Given the description of an element on the screen output the (x, y) to click on. 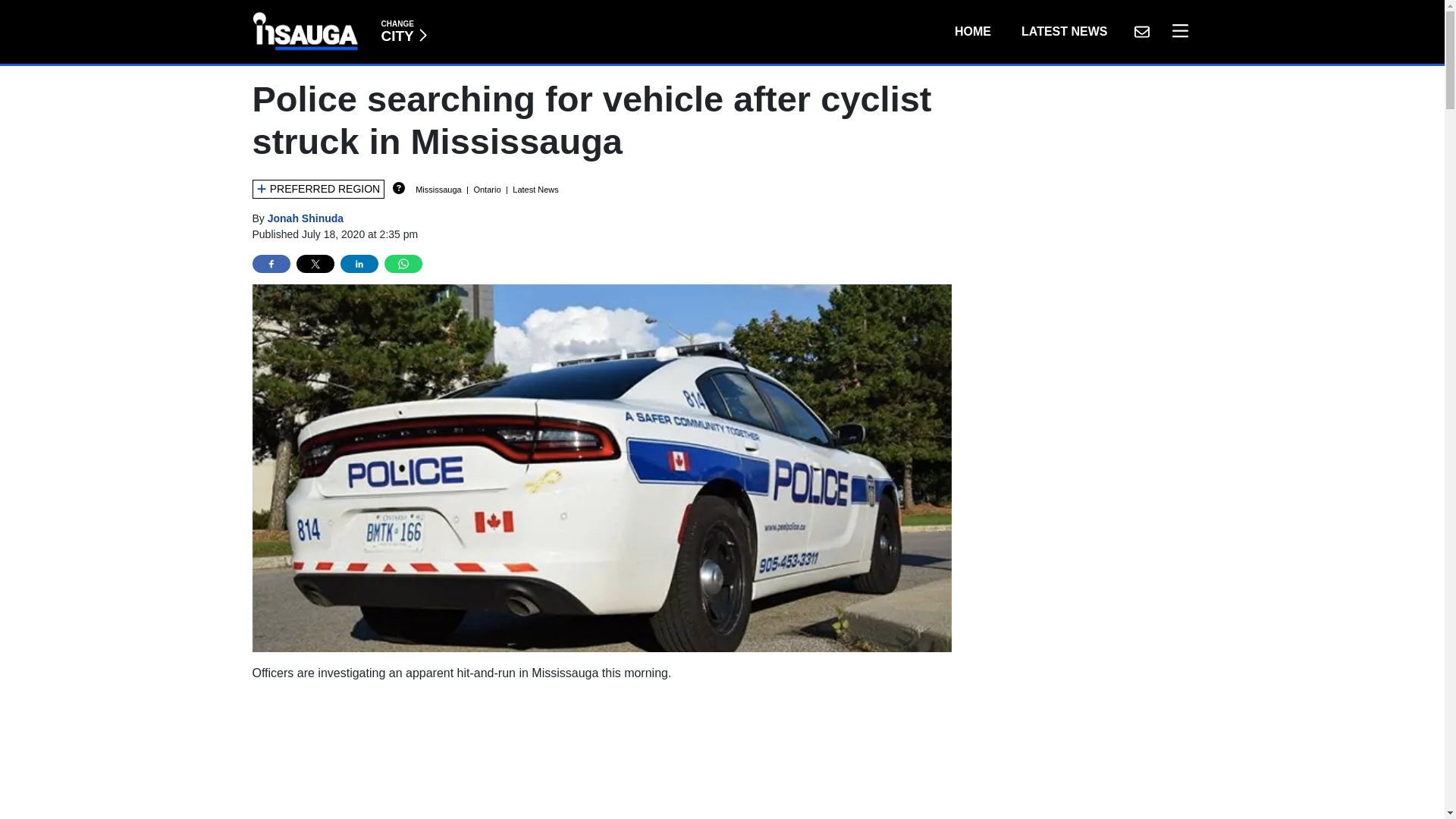
3rd party ad content (601, 756)
Posts by 193 (305, 218)
LATEST NEWS (1064, 31)
OPEN MENU (1176, 31)
HOME (402, 31)
SIGN UP FOR OUR NEWSLETTER (972, 31)
